Given the description of an element on the screen output the (x, y) to click on. 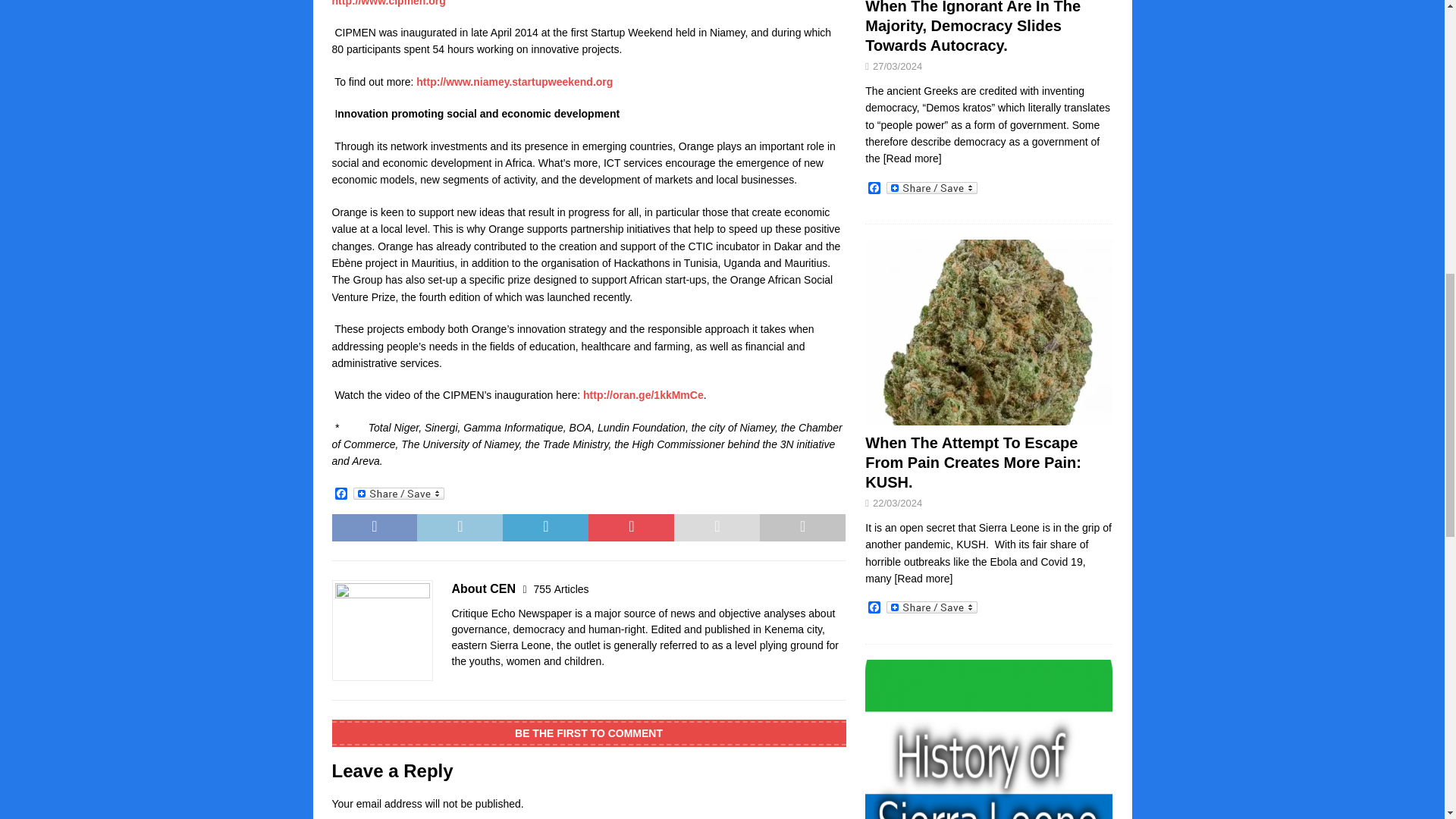
This external link will open in a new window (388, 3)
This external link will open in a new window (514, 81)
This external link will open in a new window (643, 395)
Facebook (340, 494)
